Given the description of an element on the screen output the (x, y) to click on. 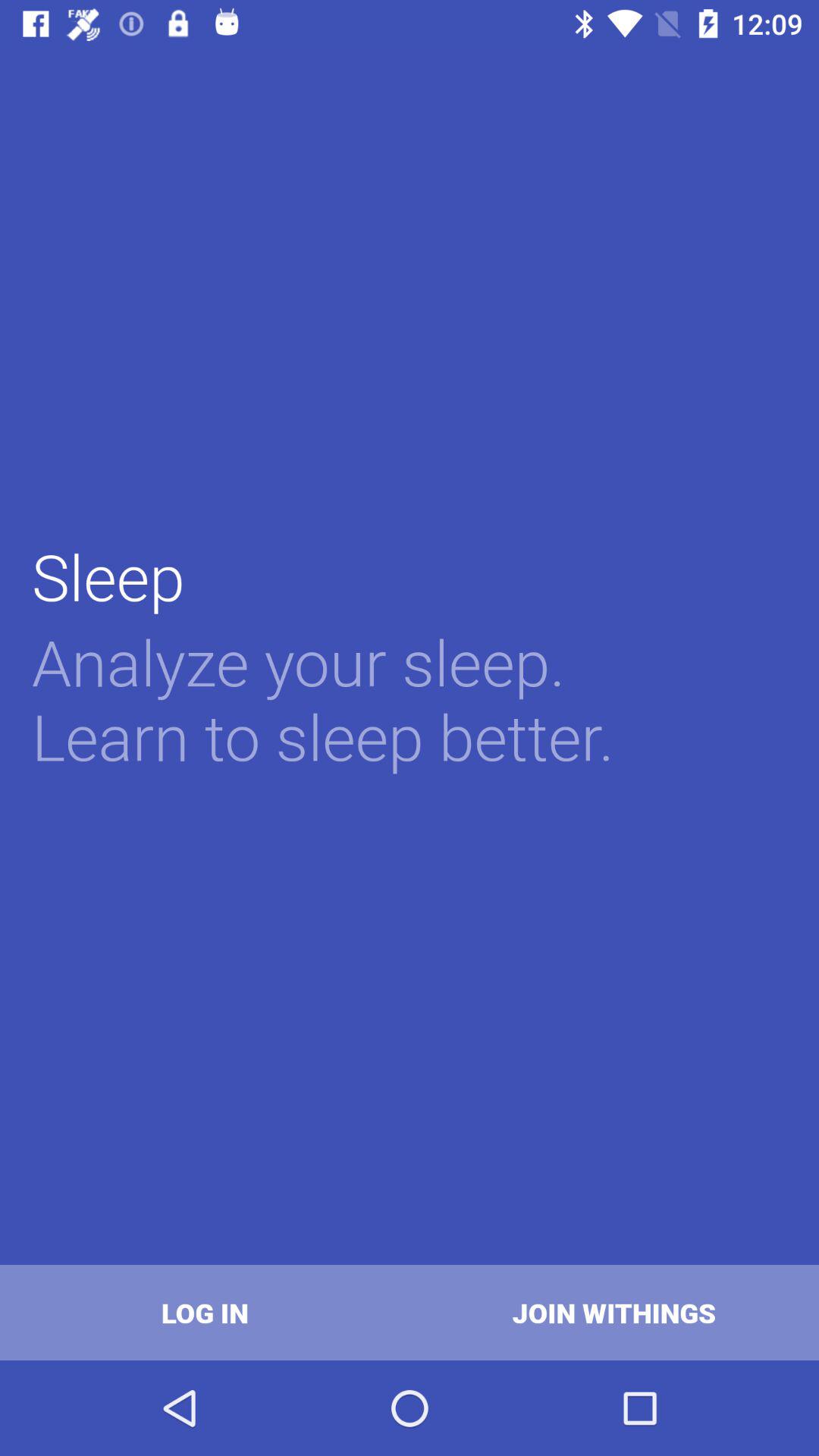
tap the log in at the bottom left corner (204, 1312)
